Given the description of an element on the screen output the (x, y) to click on. 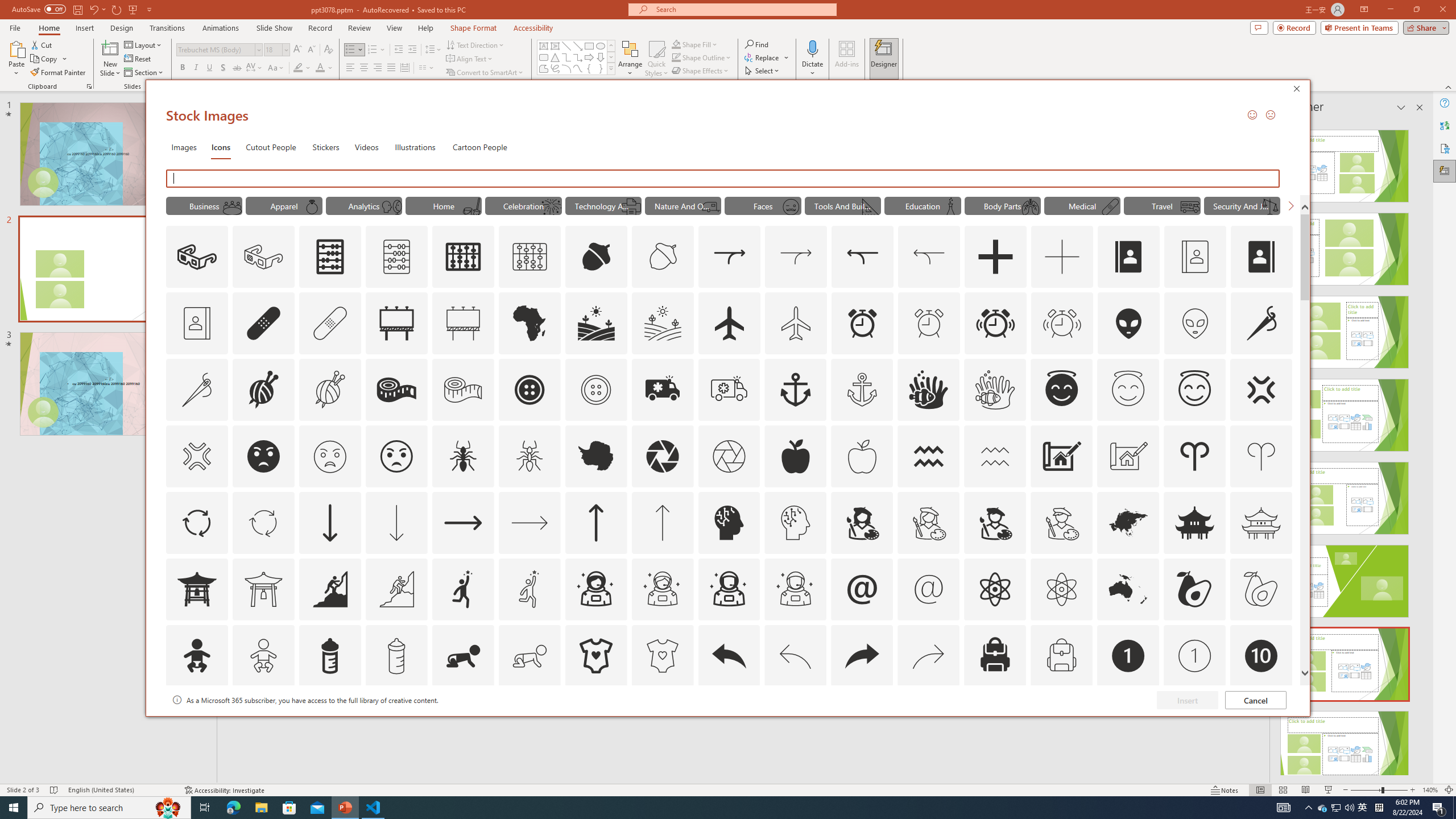
Videos (366, 146)
AutomationID: Icons_Aquarius_M (995, 455)
AutomationID: Icons_Avocado_M (1260, 588)
AutomationID: Icons_Rv_M (1190, 206)
Convert to SmartArt (485, 72)
Class: NetUIScrollBar (1418, 447)
Shape Outline (701, 56)
Reset (138, 58)
AutomationID: Icons_BabyBottle_M (395, 655)
